Given the description of an element on the screen output the (x, y) to click on. 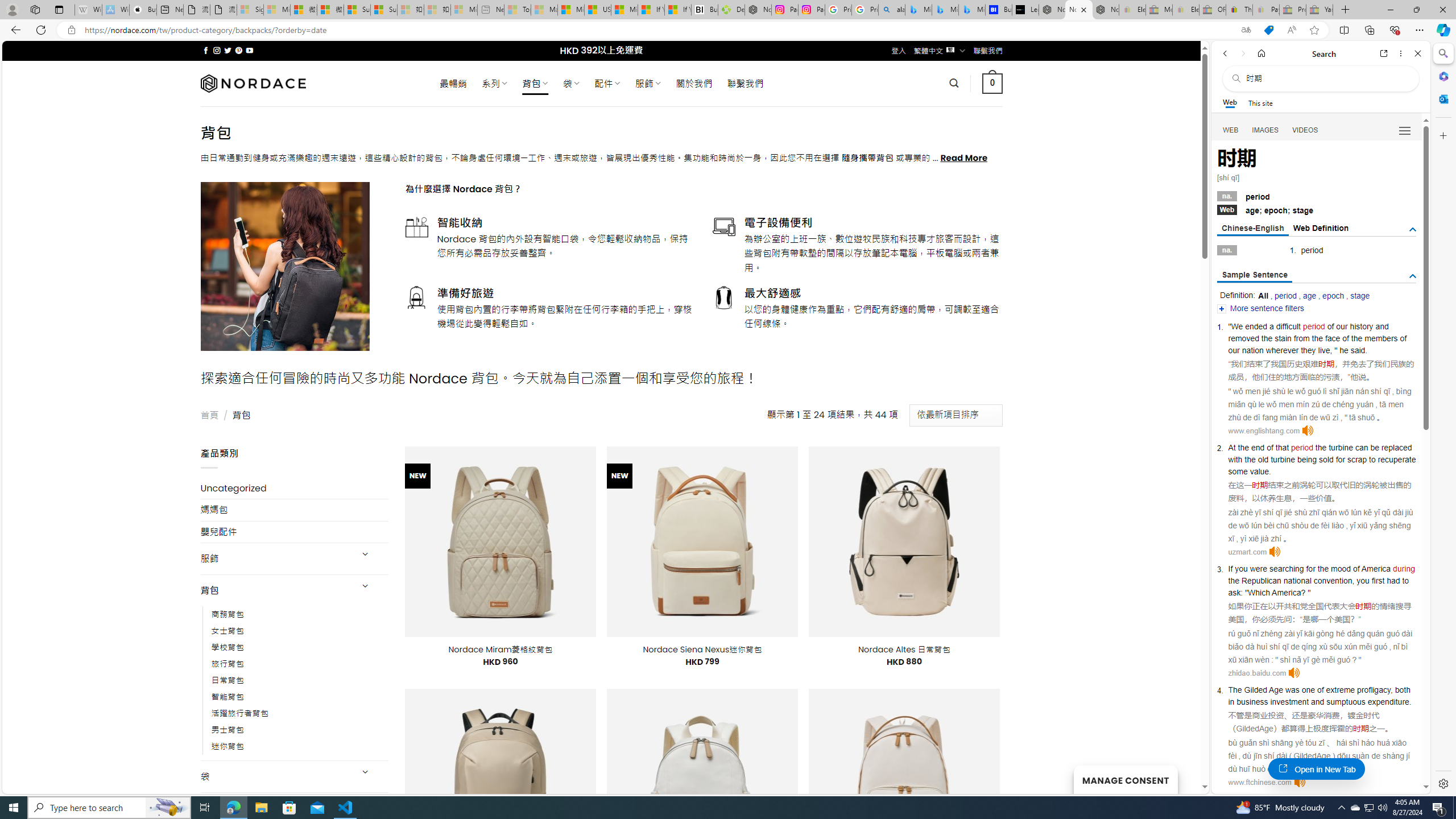
stain (1282, 338)
Show translate options (1245, 29)
? (1303, 592)
Republican (1260, 580)
Descarga Driver Updater (731, 9)
extreme (1340, 689)
At (1231, 447)
Side bar (1443, 418)
first (1377, 580)
scrap (1356, 459)
Microsoft Start (623, 9)
